Given the description of an element on the screen output the (x, y) to click on. 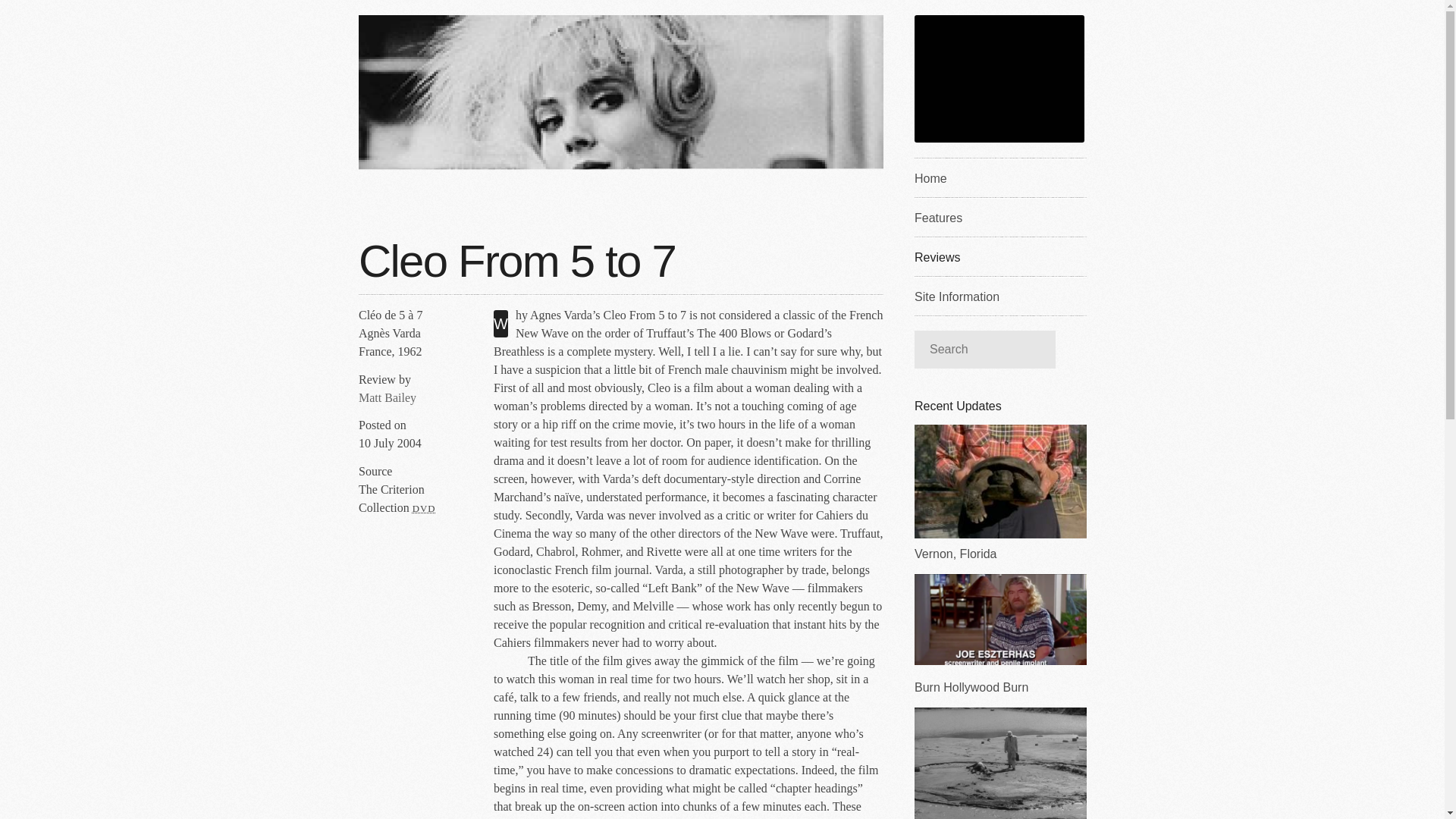
Vernon, Florida (1000, 493)
Features (1000, 216)
Features (1000, 216)
Home (1000, 177)
Reviews (1000, 256)
Site Information (1000, 295)
Burn Hollywood Burn (1000, 634)
Site Information (1000, 295)
Site Index (1000, 177)
Pitfall (1000, 763)
